Given the description of an element on the screen output the (x, y) to click on. 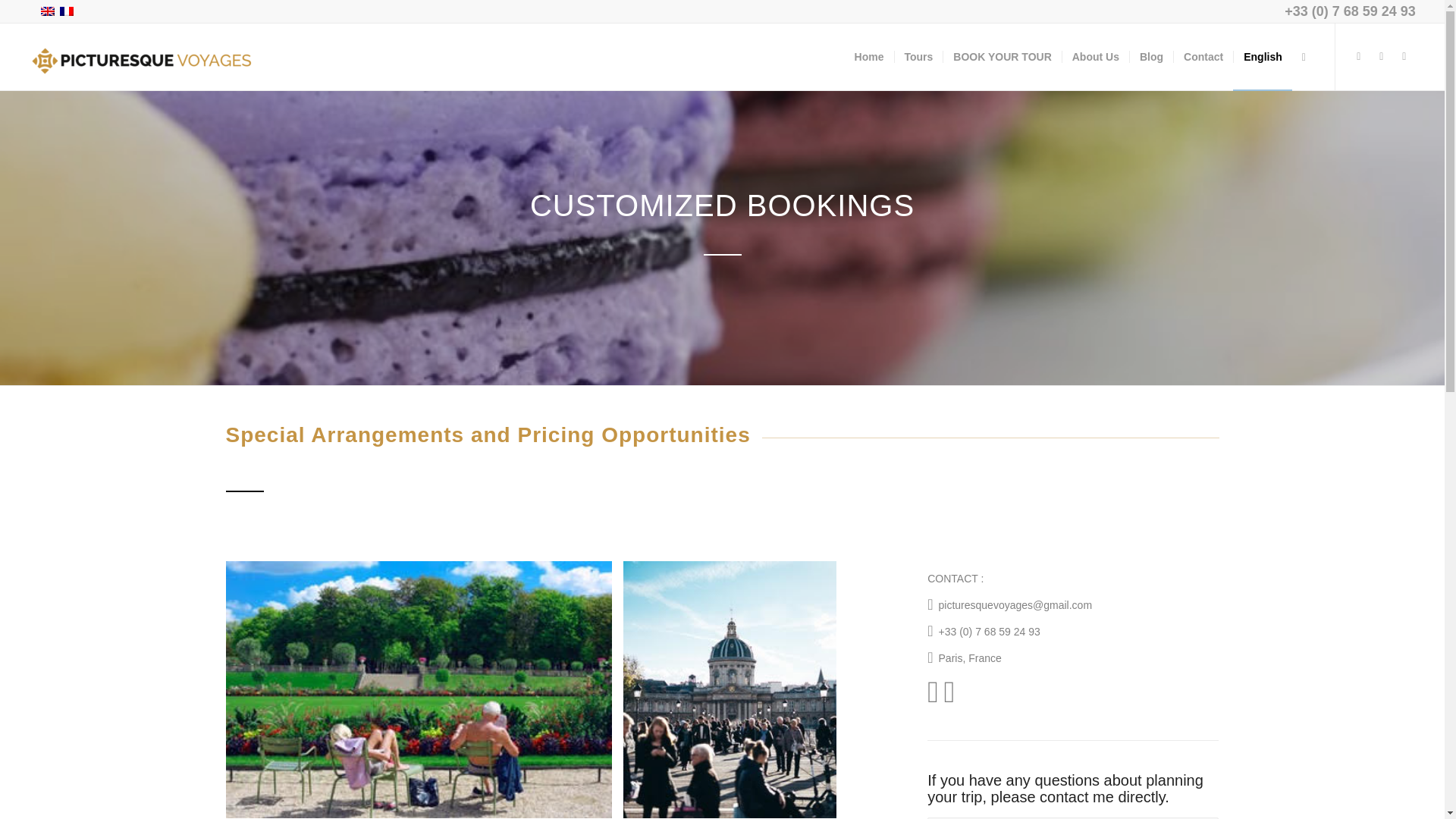
Facebook (1359, 56)
BOOK YOUR TOUR (1001, 56)
About Us (1095, 56)
English (47, 10)
Instagram (1381, 56)
Couple (418, 689)
Contact (1203, 56)
Linkedin (1404, 56)
